Given the description of an element on the screen output the (x, y) to click on. 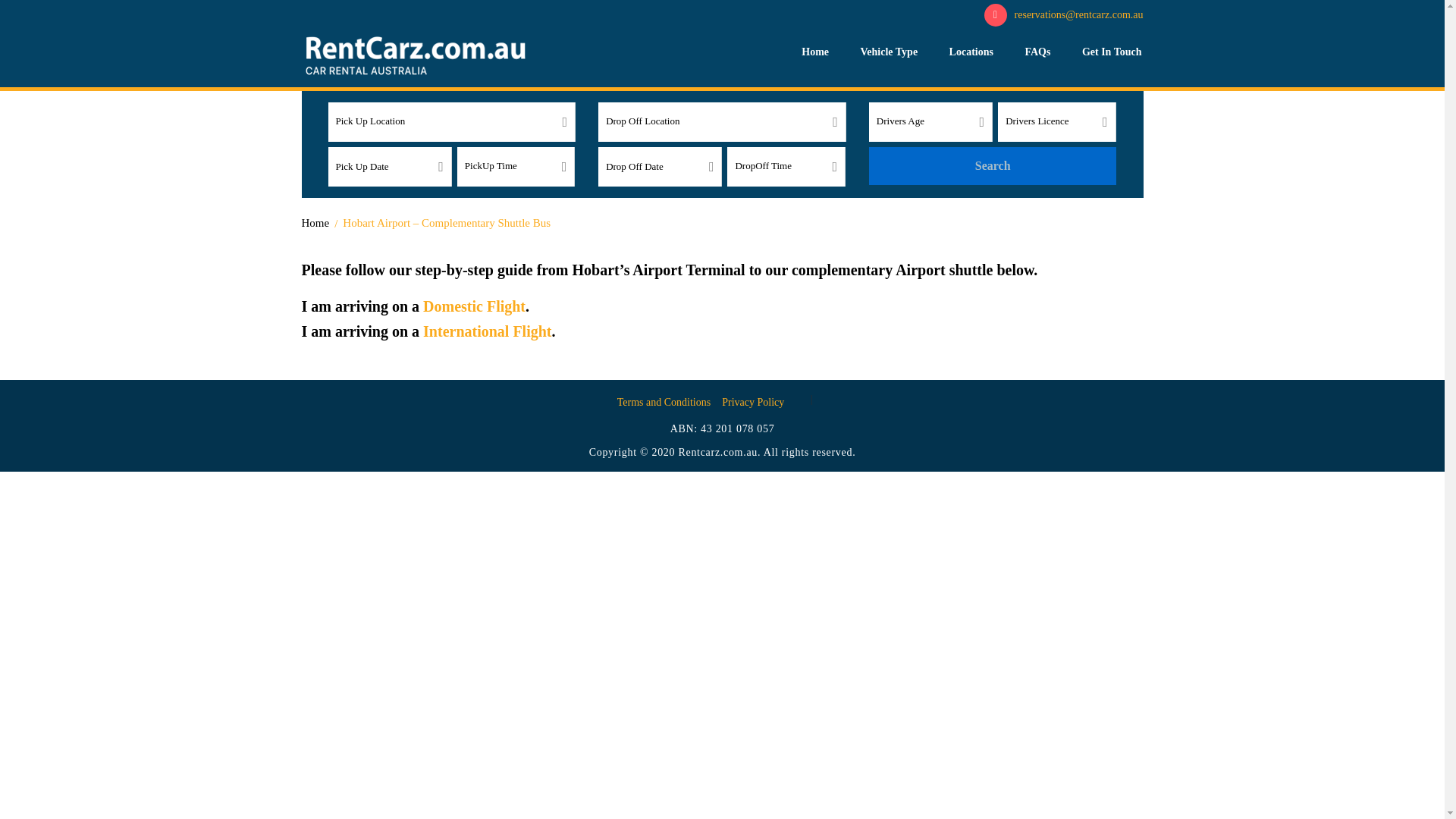
Home (315, 223)
FAQs (1037, 52)
Get In Touch (1111, 52)
Terms and Conditions (663, 401)
Privacy Policy (753, 401)
Locations (970, 52)
International Flight (487, 330)
Vehicle Type (889, 52)
Search (992, 166)
Domestic Flight (474, 306)
Home (814, 52)
